Given the description of an element on the screen output the (x, y) to click on. 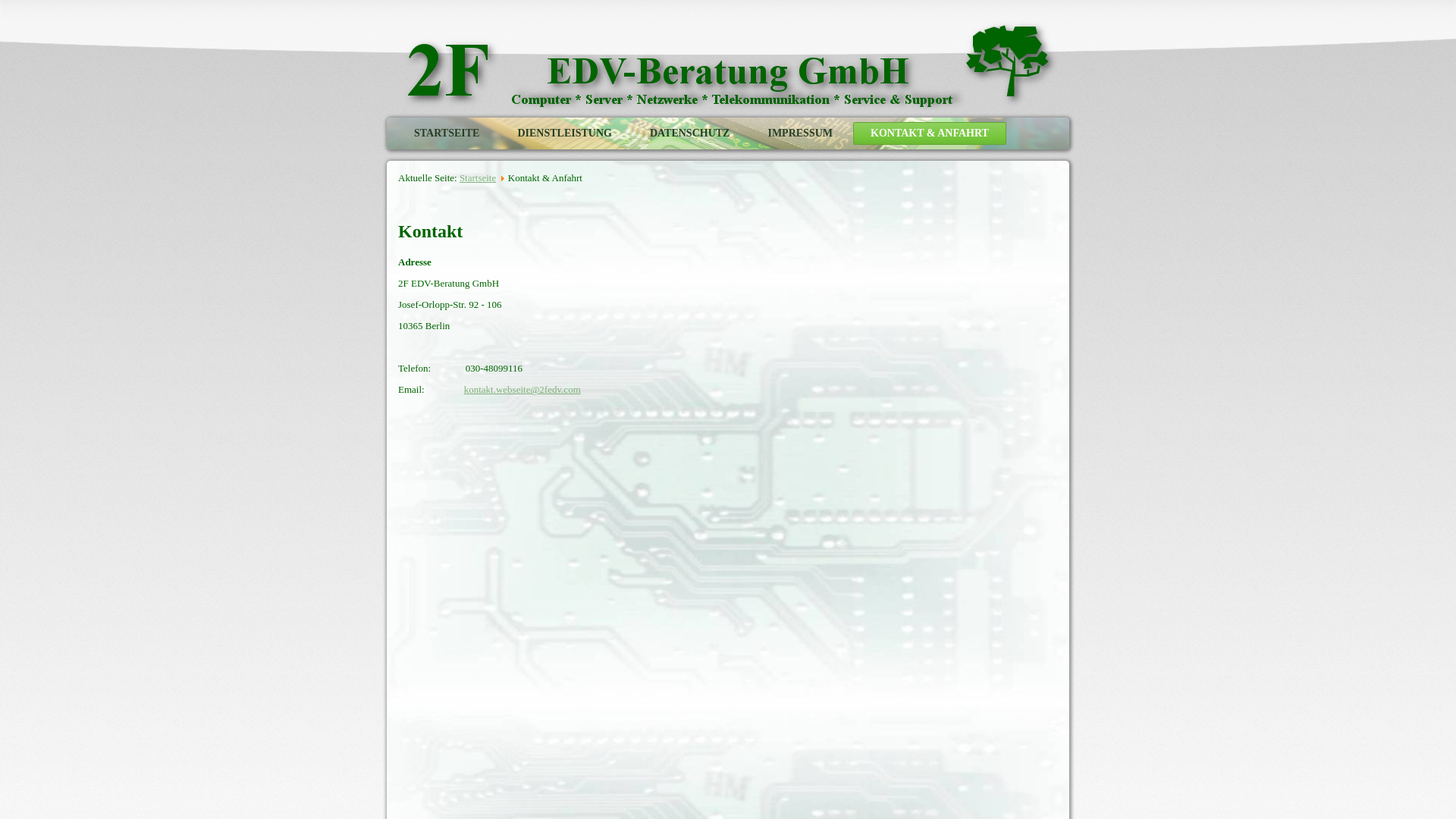
IMPRESSUM Element type: text (799, 133)
Startseite Element type: text (477, 177)
KONTAKT & ANFAHRT Element type: text (929, 133)
kontakt.webseite@2fedv.com Element type: text (522, 389)
DIENSTLEISTUNG Element type: text (564, 133)
STARTSEITE Element type: text (446, 133)
DATENSCHUTZ Element type: text (689, 133)
